Given the description of an element on the screen output the (x, y) to click on. 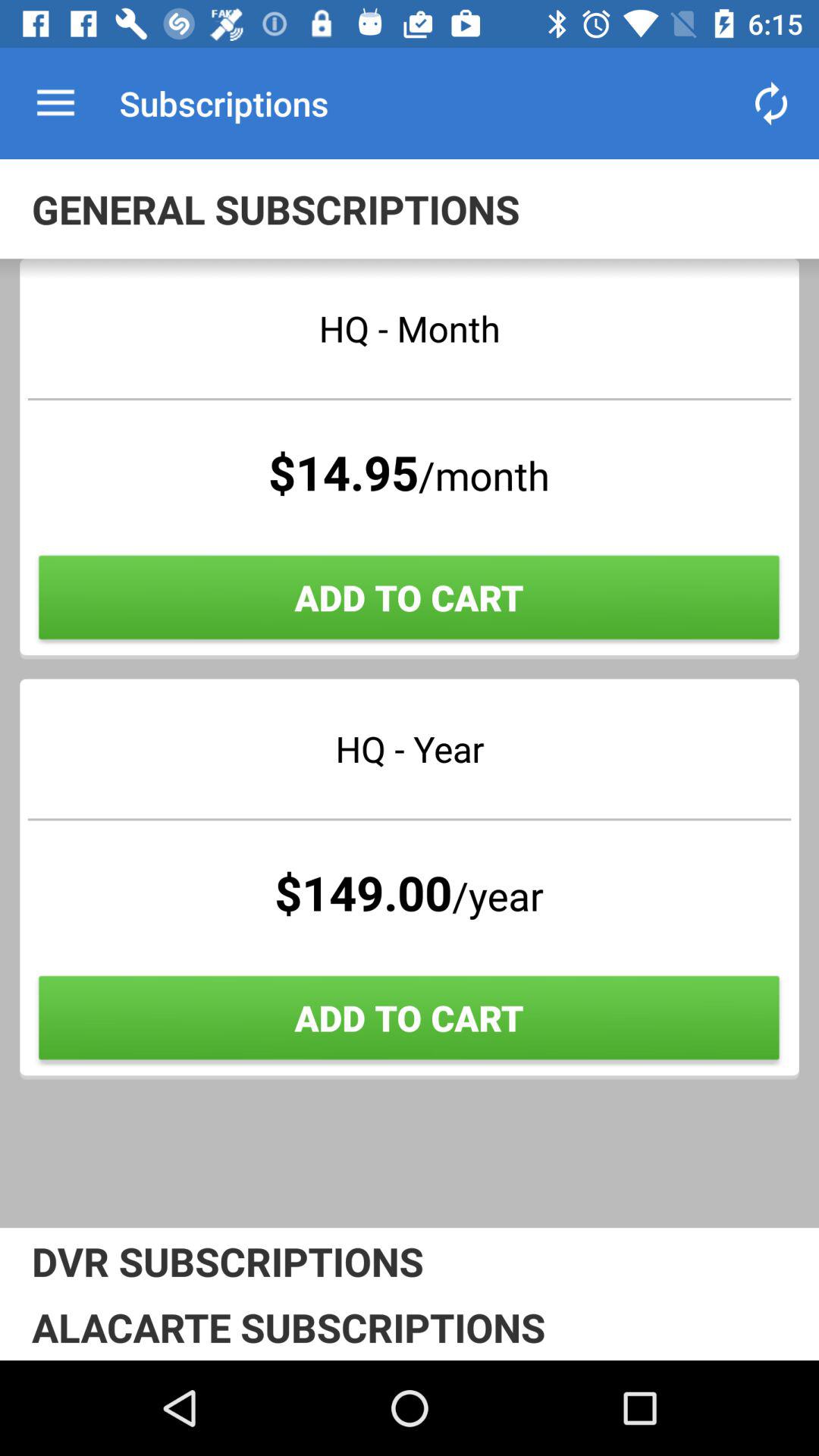
turn on the item next to the subscriptions item (771, 103)
